Given the description of an element on the screen output the (x, y) to click on. 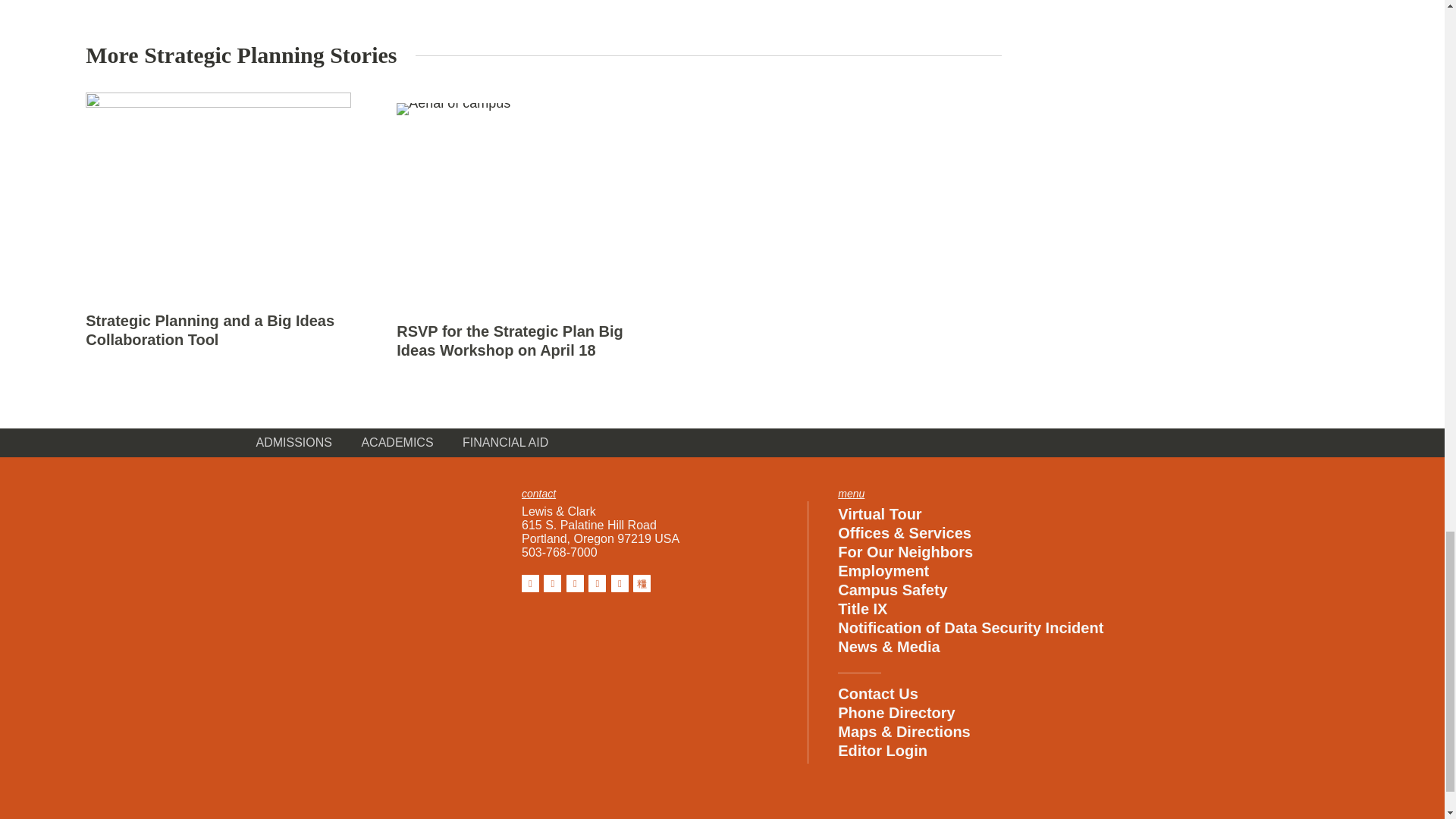
View our YouTube (619, 583)
View our LinkedIn (596, 583)
View our Instagram (551, 583)
View our Facebook page (529, 583)
View our TikTok (641, 583)
RSVP for the Strategic Plan Big Ideas Workshop on April 18 (509, 340)
Strategic Planning and a Big Ideas Collaboration Tool (209, 330)
View our Twitter (574, 583)
